Given the description of an element on the screen output the (x, y) to click on. 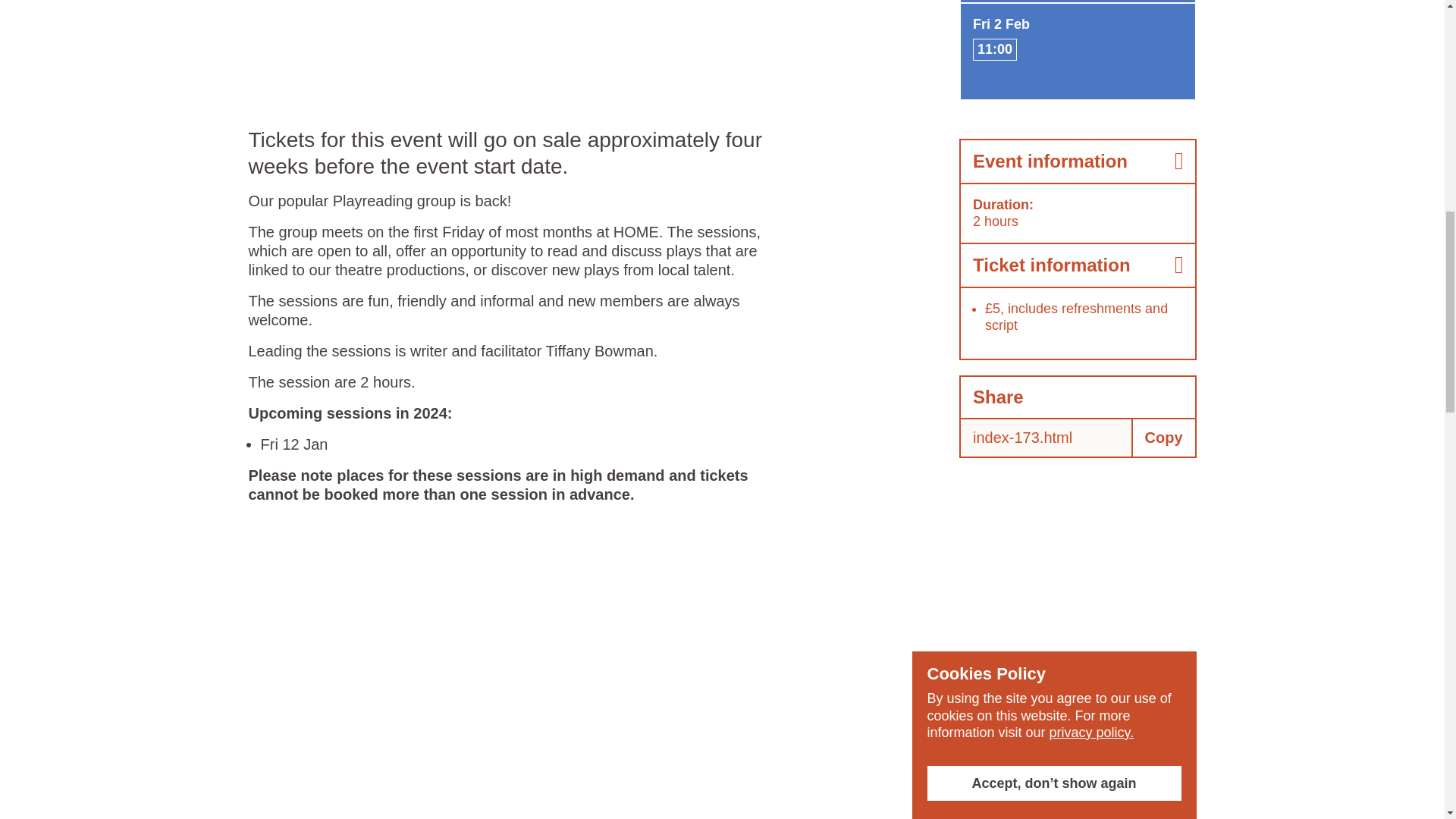
index-173.html (1045, 437)
